Given the description of an element on the screen output the (x, y) to click on. 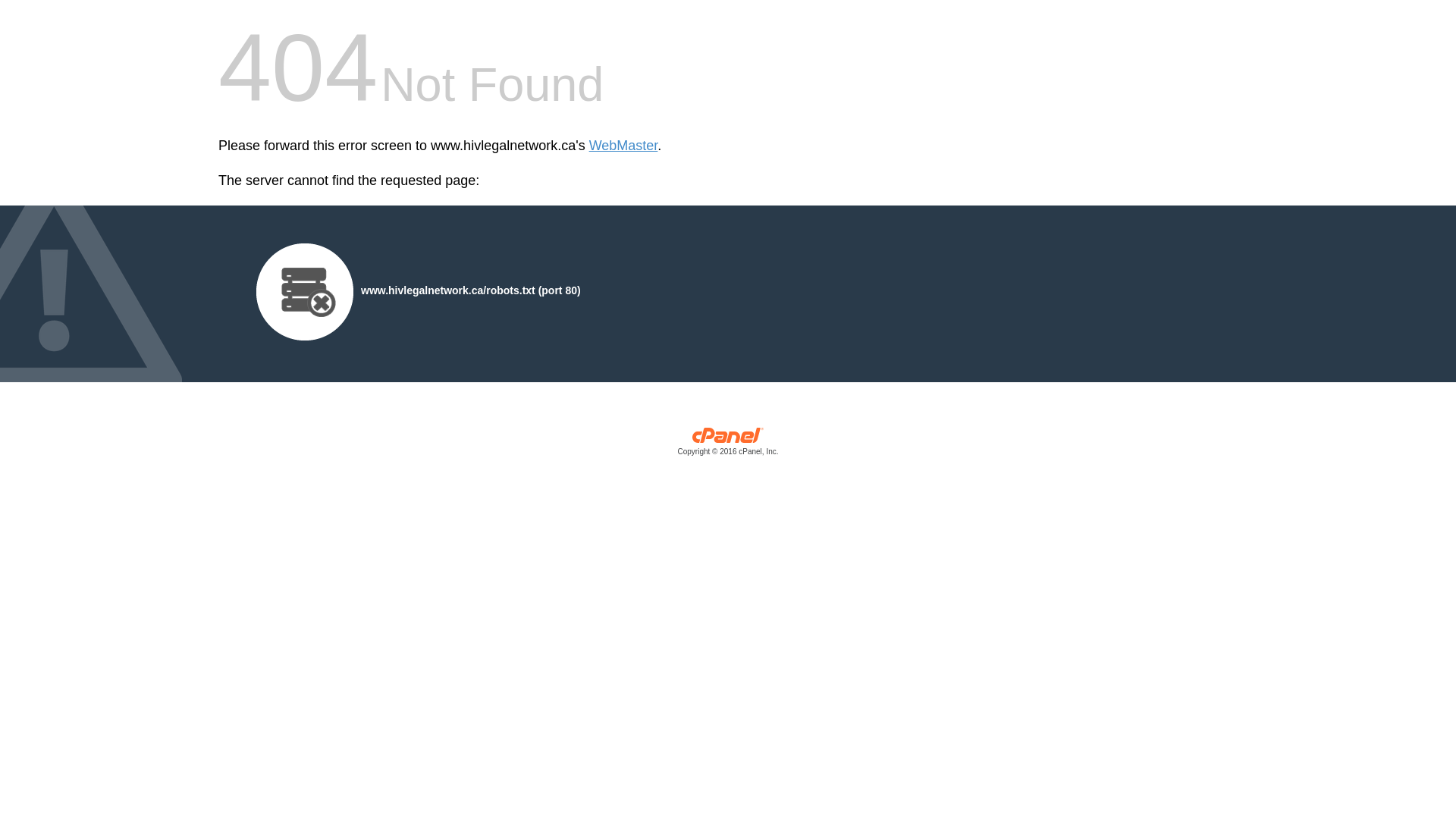
WebMaster Element type: text (623, 145)
